Given the description of an element on the screen output the (x, y) to click on. 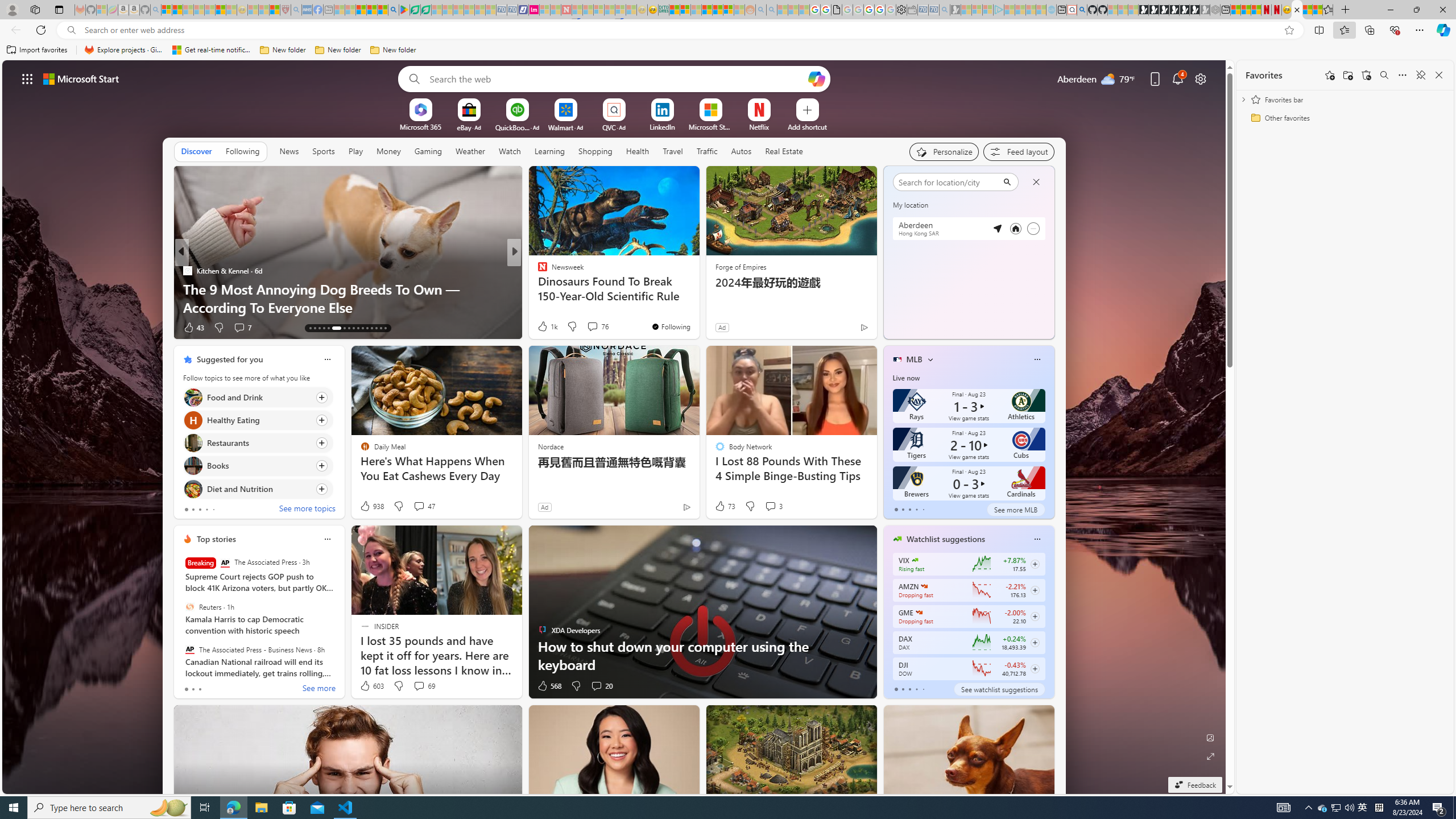
15 Signs That Your Dog May Be Ready for Its Final Rest (697, 298)
AutomationID: tab-38 (380, 328)
View comments 4 Comment (592, 327)
Add folder (1347, 74)
Edit Background (1210, 737)
Dog Breed Pro (537, 270)
Unpin favorites (1420, 74)
AutomationID: tab-22 (358, 328)
CBOE Market Volatility Index (914, 559)
Cannot remove (1032, 228)
